Given the description of an element on the screen output the (x, y) to click on. 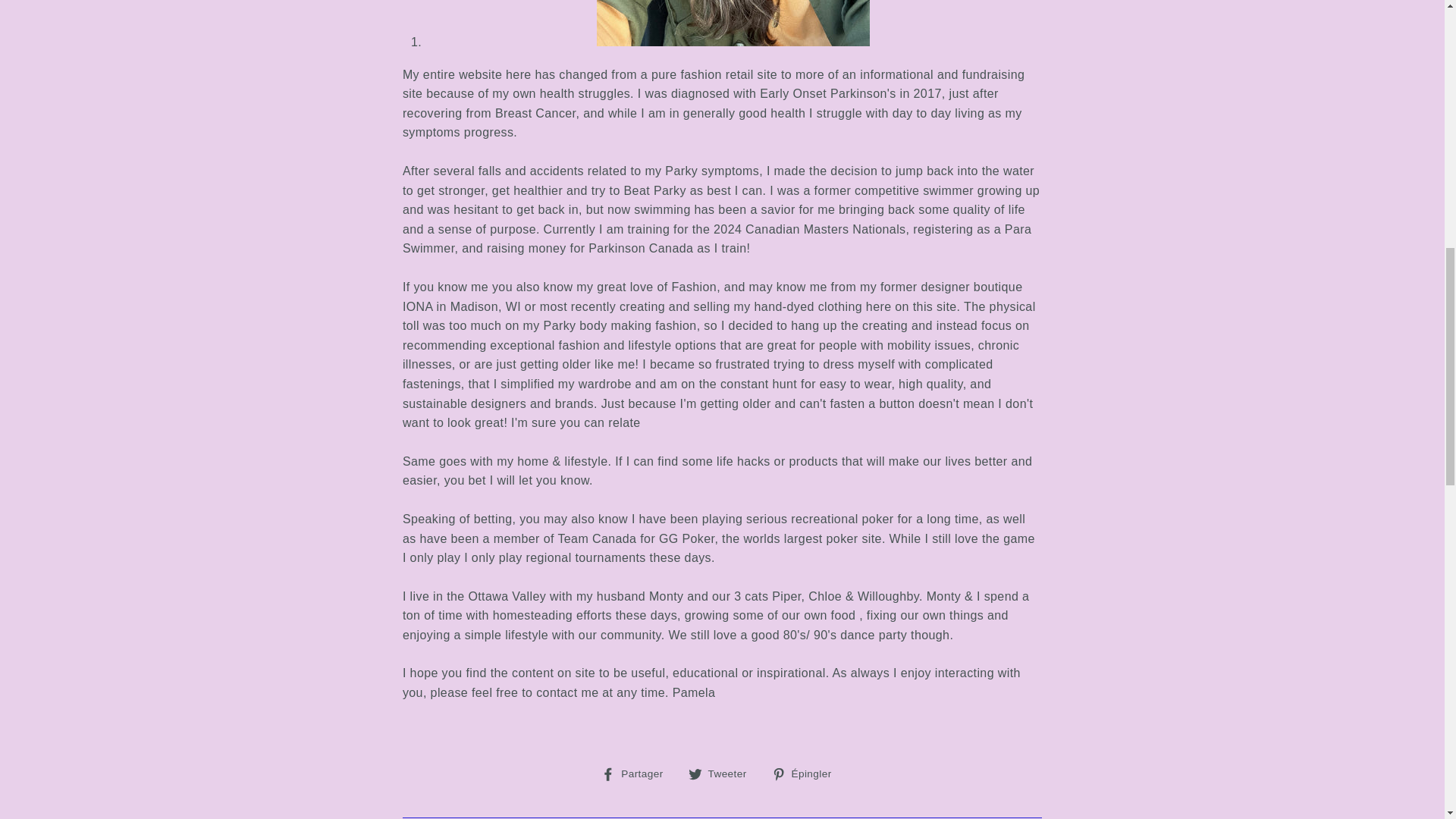
Tweeter sur Twitter (723, 772)
Partager sur Facebook (723, 772)
